Given the description of an element on the screen output the (x, y) to click on. 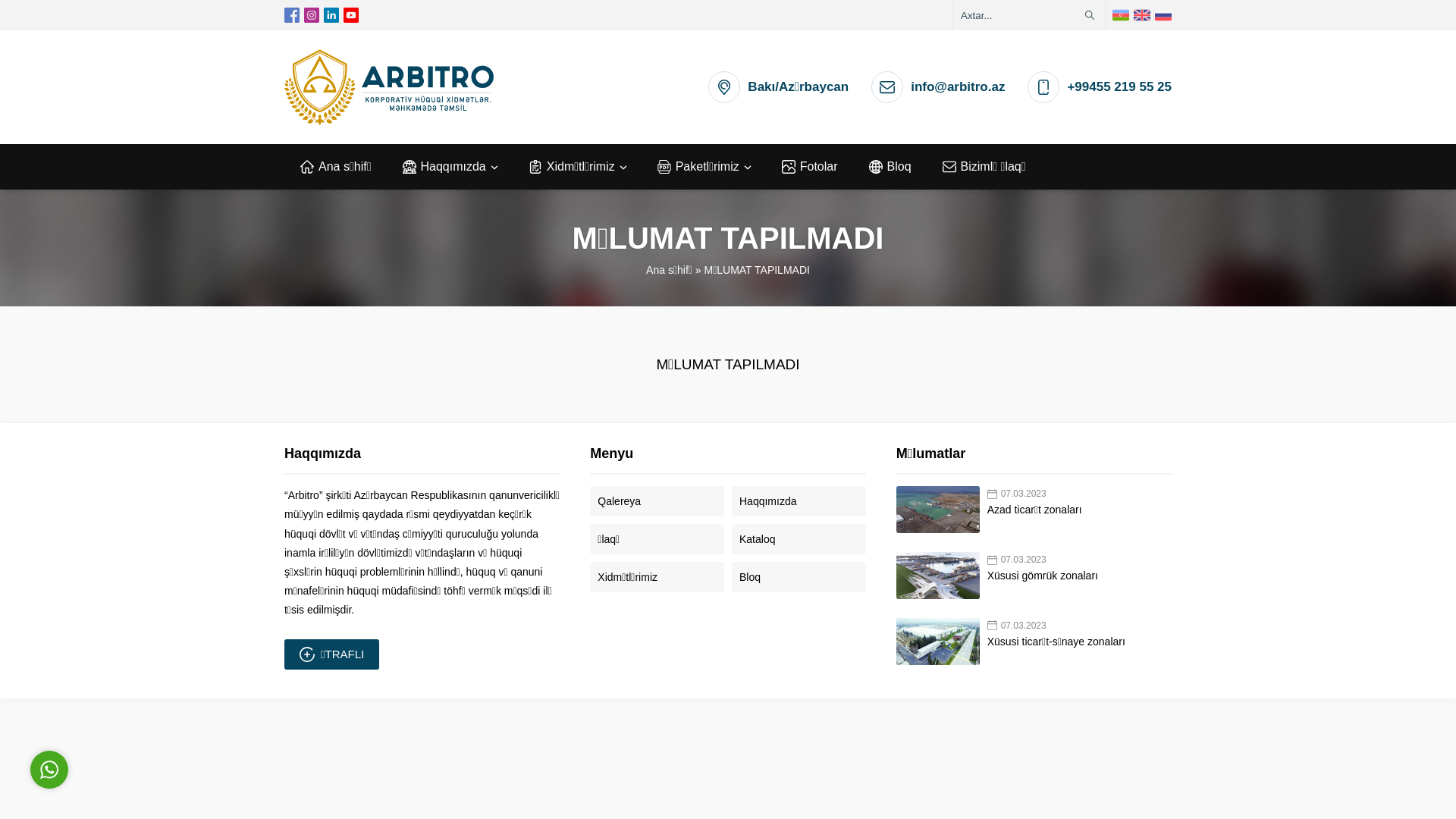
+99455 219 55 25 Element type: text (1118, 86)
Fotolar Element type: text (809, 166)
Qalereya Element type: text (656, 501)
info@arbitro.az Element type: text (957, 86)
Bloq Element type: text (798, 576)
Kataloq Element type: text (798, 539)
Bloq Element type: text (889, 166)
